Given the description of an element on the screen output the (x, y) to click on. 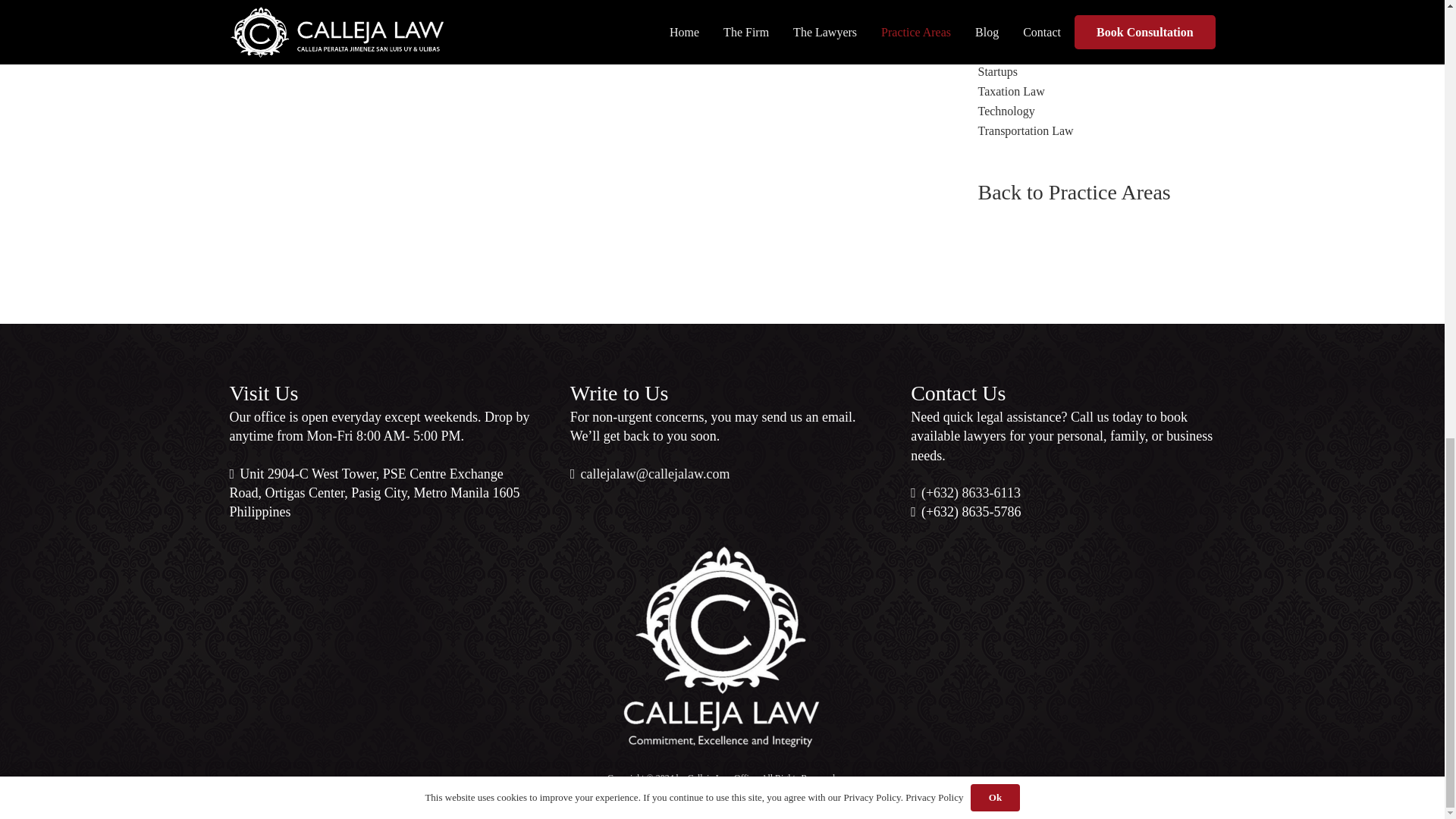
The Firm (650, 473)
